Given the description of an element on the screen output the (x, y) to click on. 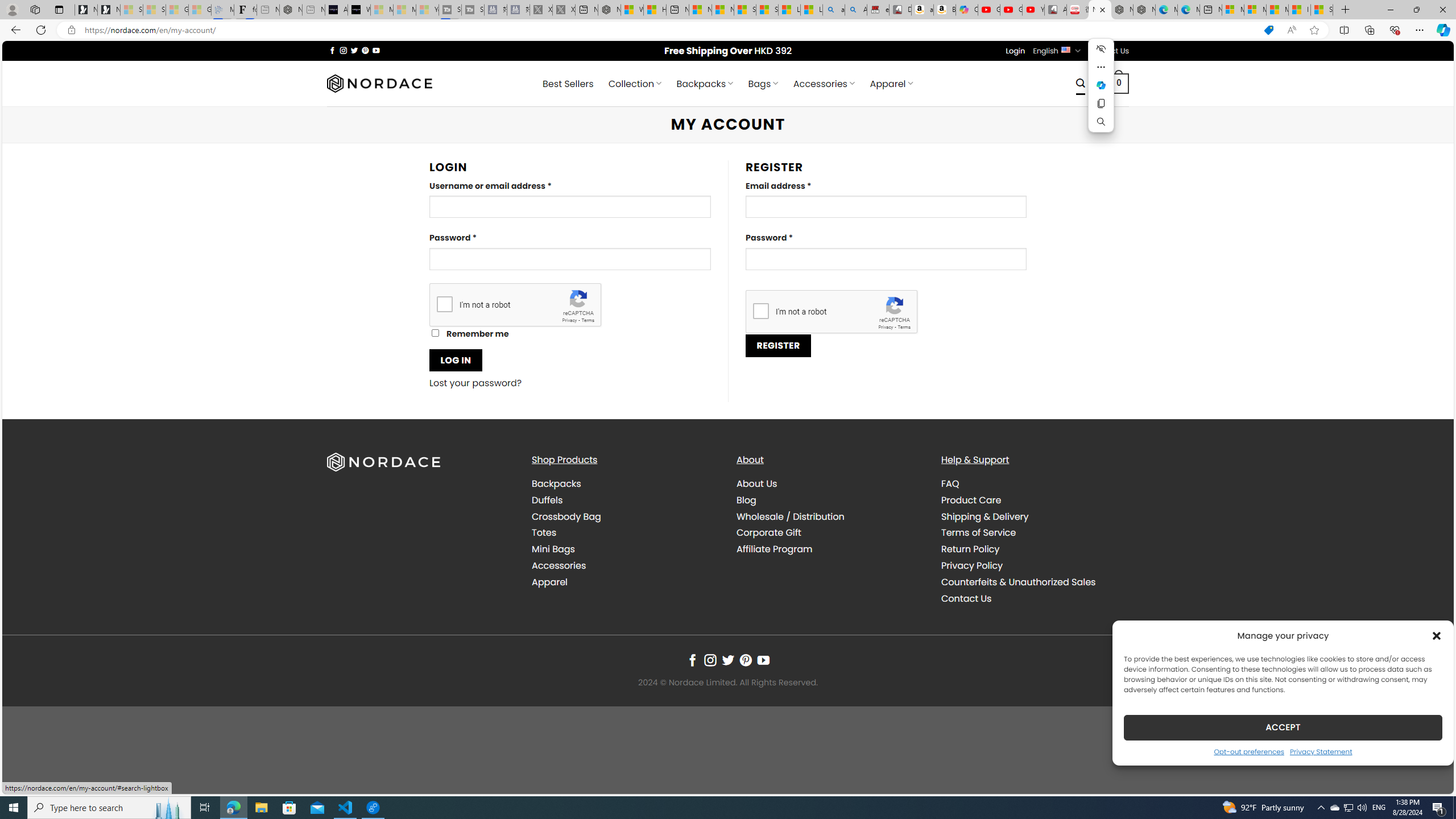
 Best Sellers (568, 83)
Follow on Facebook (691, 659)
Wildlife - MSN (631, 9)
Close (1442, 9)
About Us (756, 483)
Affiliate Program (774, 549)
Privacy Statement (1321, 750)
Login (1015, 50)
All Cubot phones (1055, 9)
Follow on Instagram (710, 659)
Return Policy (970, 549)
Duffels (547, 499)
Browser essentials (1394, 29)
Mini Bags (553, 549)
